Given the description of an element on the screen output the (x, y) to click on. 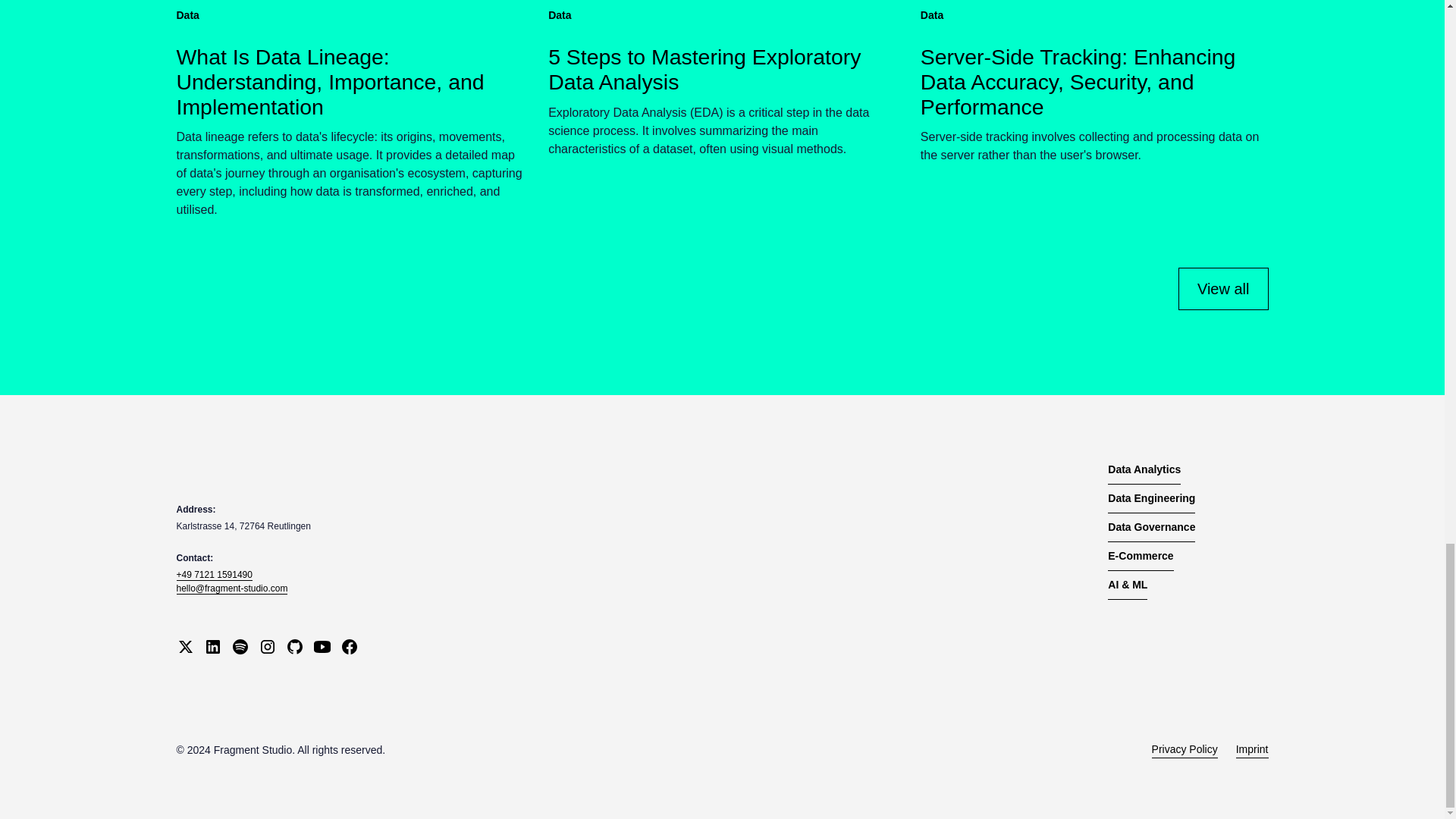
View all (1222, 288)
Data (190, 15)
Data Governance (1151, 527)
5 Steps to Mastering Exploratory Data Analysis (722, 69)
Data Engineering (1151, 498)
E-Commerce (1140, 556)
Imprint (1252, 750)
Privacy Policy (1184, 750)
